Given the description of an element on the screen output the (x, y) to click on. 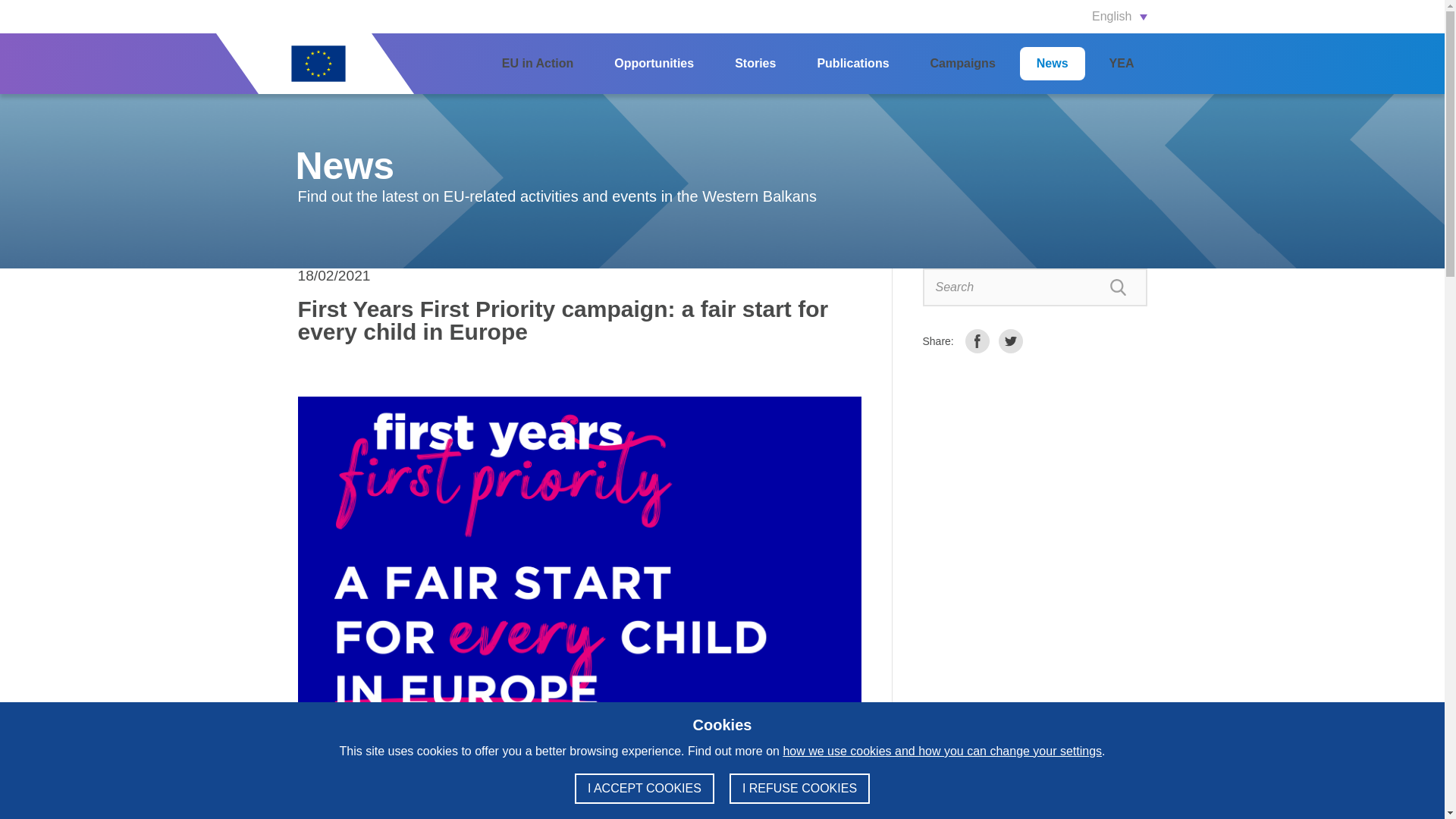
English (1080, 17)
EU in Action (537, 63)
